Given the description of an element on the screen output the (x, y) to click on. 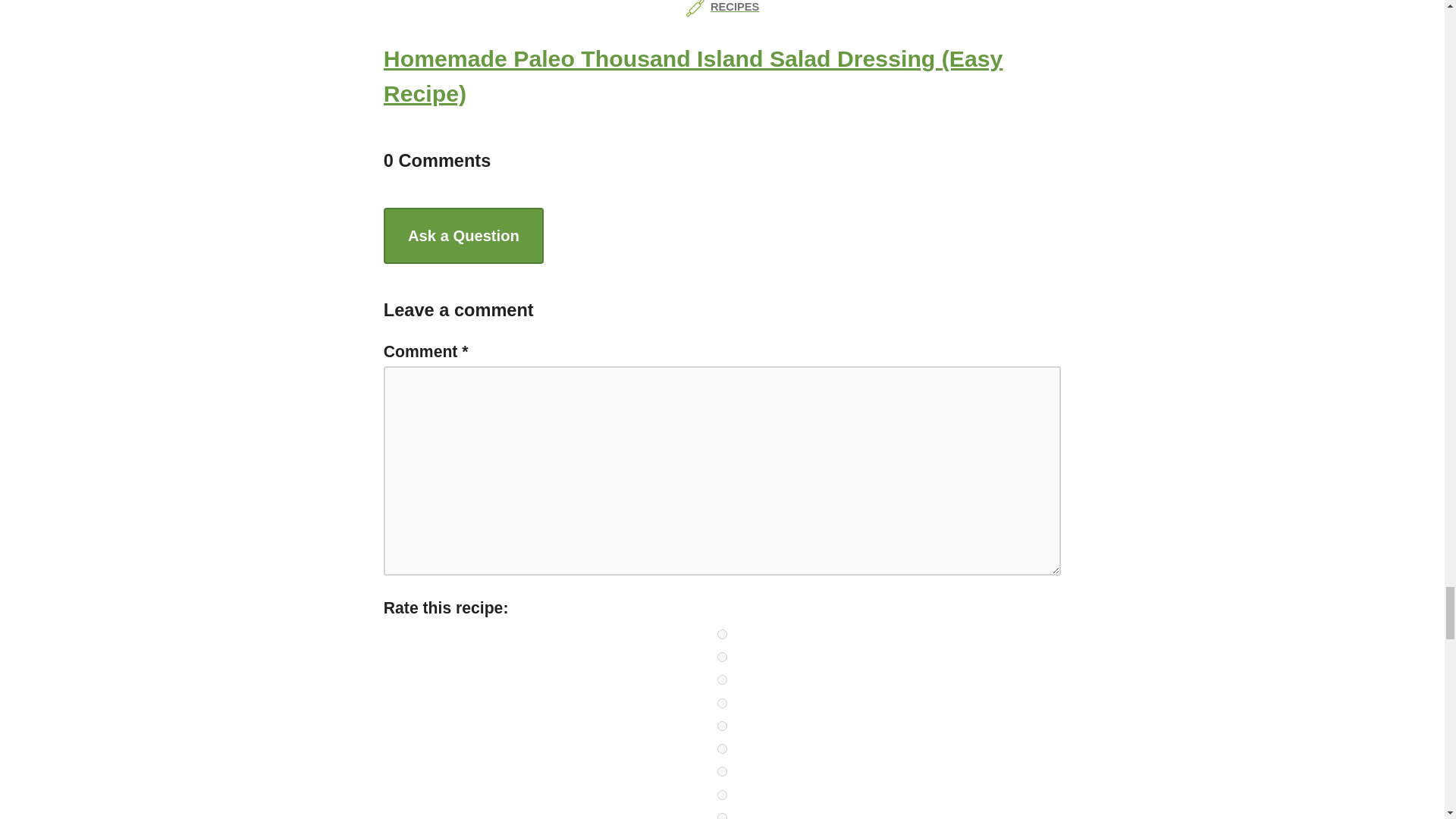
1.5 (722, 679)
2 (722, 703)
1 (722, 656)
3.5 (722, 771)
2.5 (722, 726)
3 (722, 748)
4 (722, 795)
0.5 (722, 634)
